Given the description of an element on the screen output the (x, y) to click on. 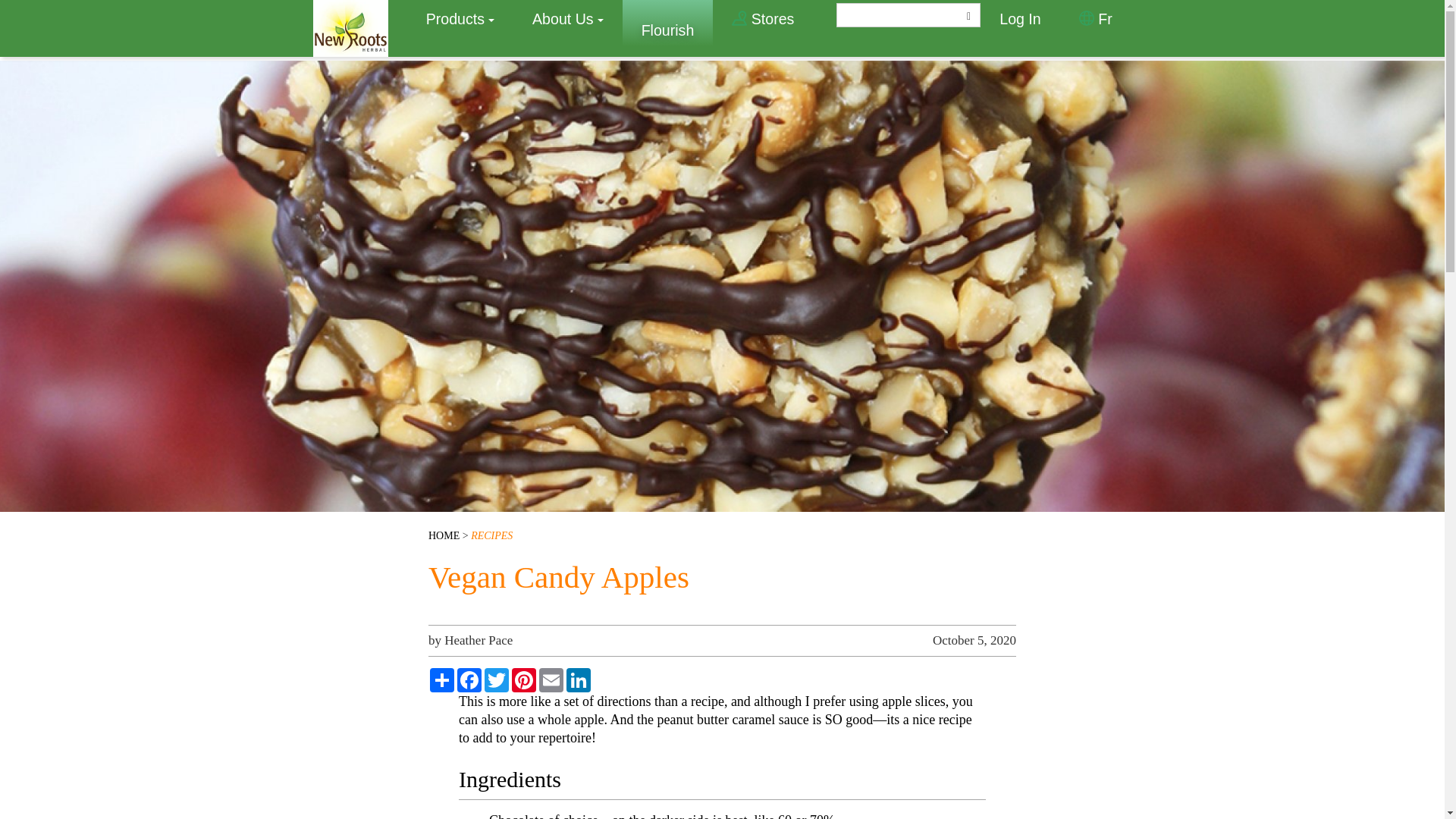
Products (460, 18)
